Given the description of an element on the screen output the (x, y) to click on. 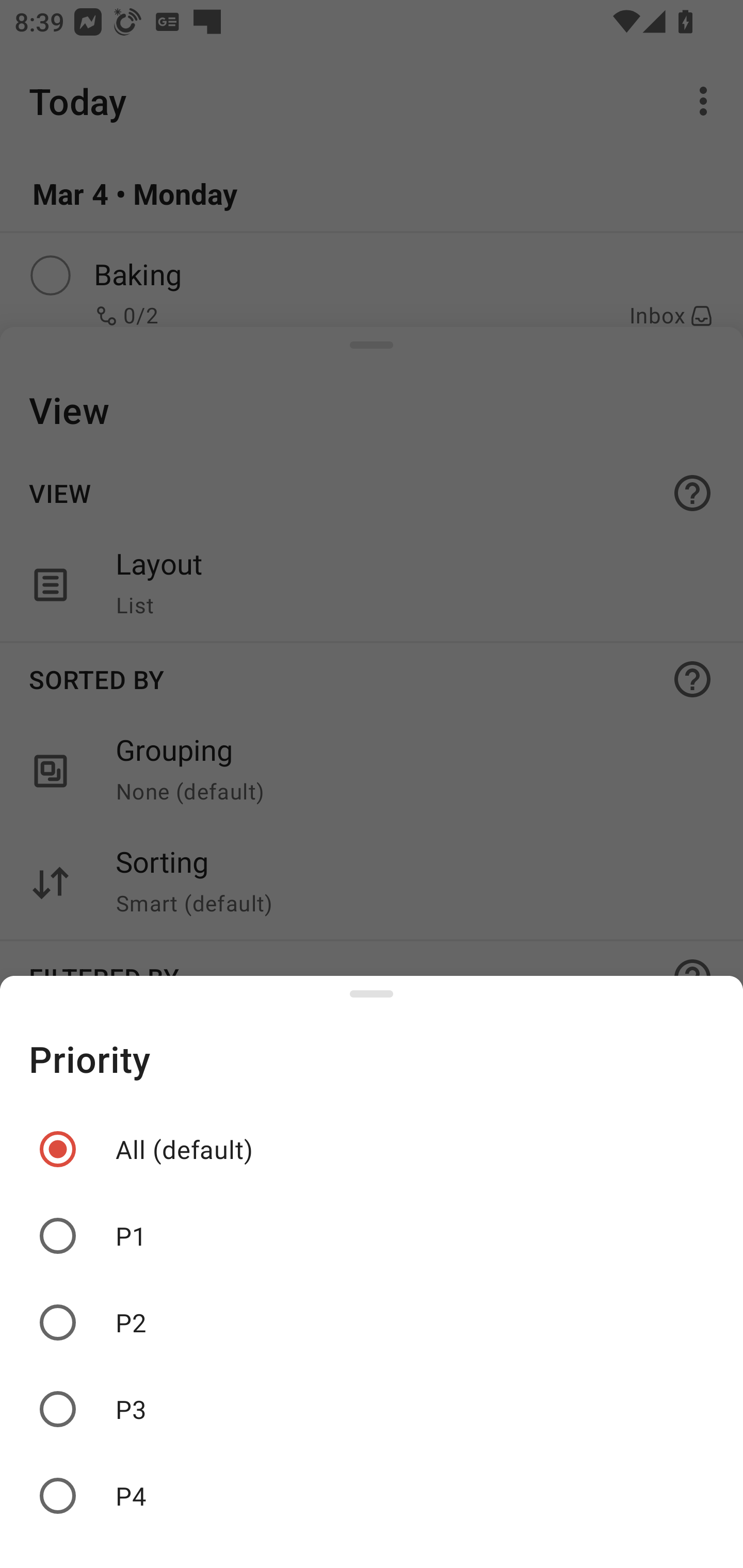
All (default) (371, 1149)
P1 (371, 1236)
P2 (371, 1322)
P3 (371, 1408)
P4 (371, 1495)
